Given the description of an element on the screen output the (x, y) to click on. 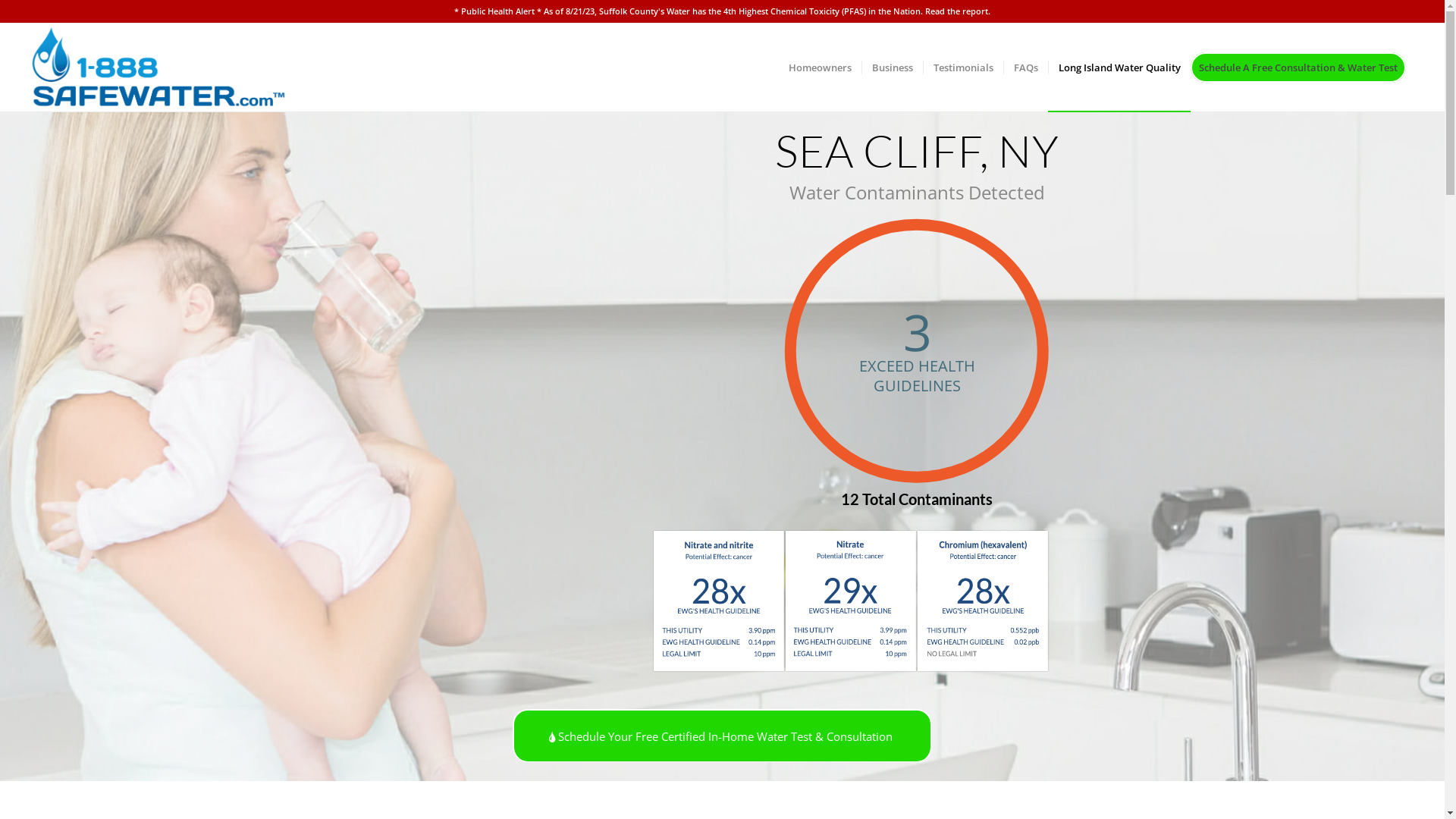
FAQs Element type: text (1025, 67)
Schedule A Free Consultation & Water Test Element type: text (1302, 67)
Homeowners Element type: text (819, 67)
Long Island Water Quality Element type: text (1119, 67)
Business Element type: text (891, 67)
Testimonials Element type: text (962, 67)
